Given the description of an element on the screen output the (x, y) to click on. 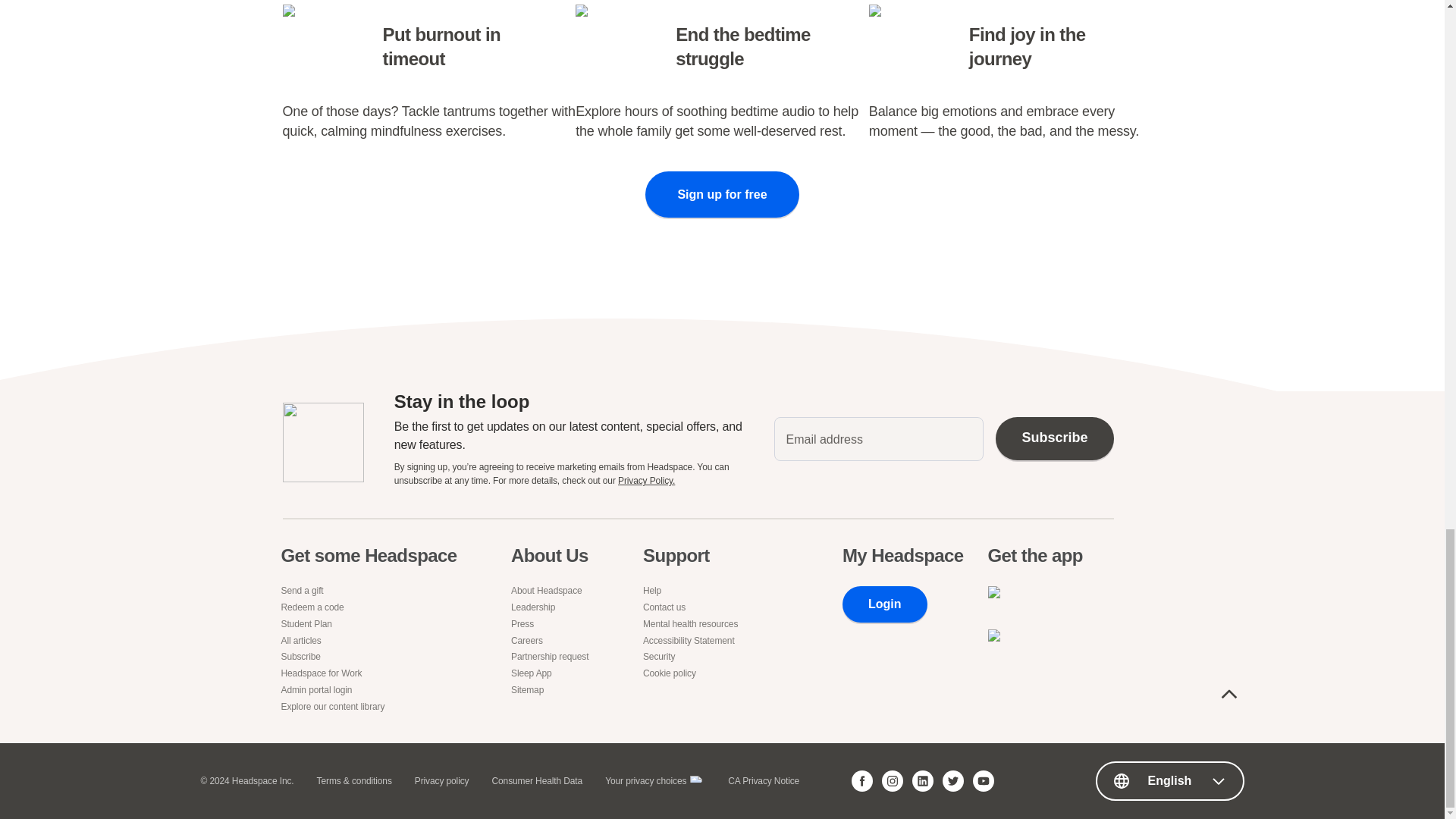
Accessibility Statement (693, 641)
Redeem a code (372, 607)
Leadership (552, 607)
About Headspace (552, 591)
Help (693, 591)
Partnership request (552, 656)
Subscribe (372, 656)
Mental health resources (693, 624)
Sleep App (552, 674)
Sign up for free (721, 194)
Press (552, 624)
Explore our content library (372, 706)
Security (693, 656)
Admin portal login (372, 690)
All articles (372, 641)
